Given the description of an element on the screen output the (x, y) to click on. 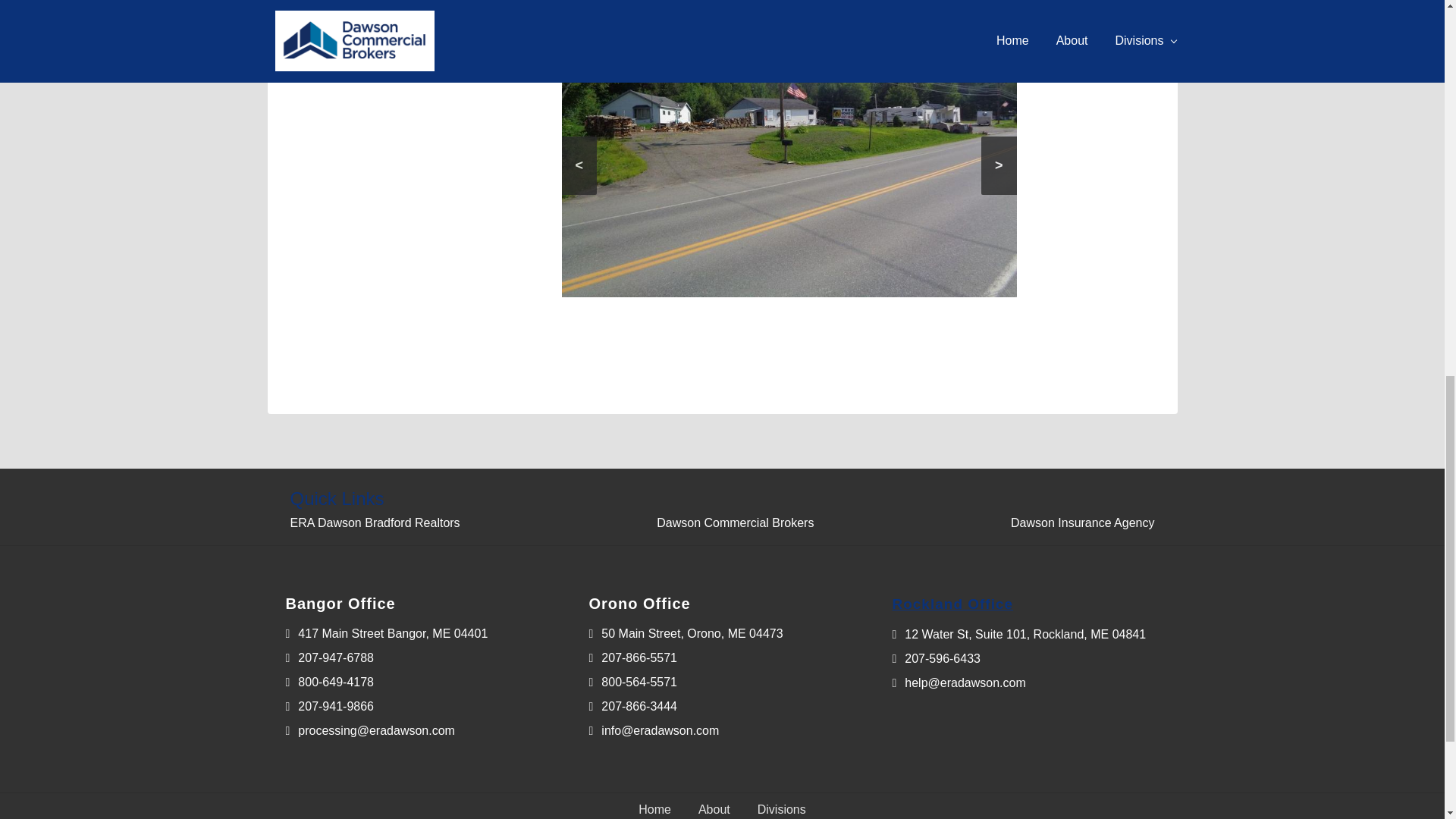
ERA Dawson Bradford Realtors (374, 522)
Dawson Insurance Agency (1082, 522)
Dawson Commercial Brokers (734, 522)
207-941-9866 (328, 706)
417 Main Street Bangor, ME 04401 (386, 633)
800-649-4178 (328, 681)
207-947-6788 (328, 657)
